Given the description of an element on the screen output the (x, y) to click on. 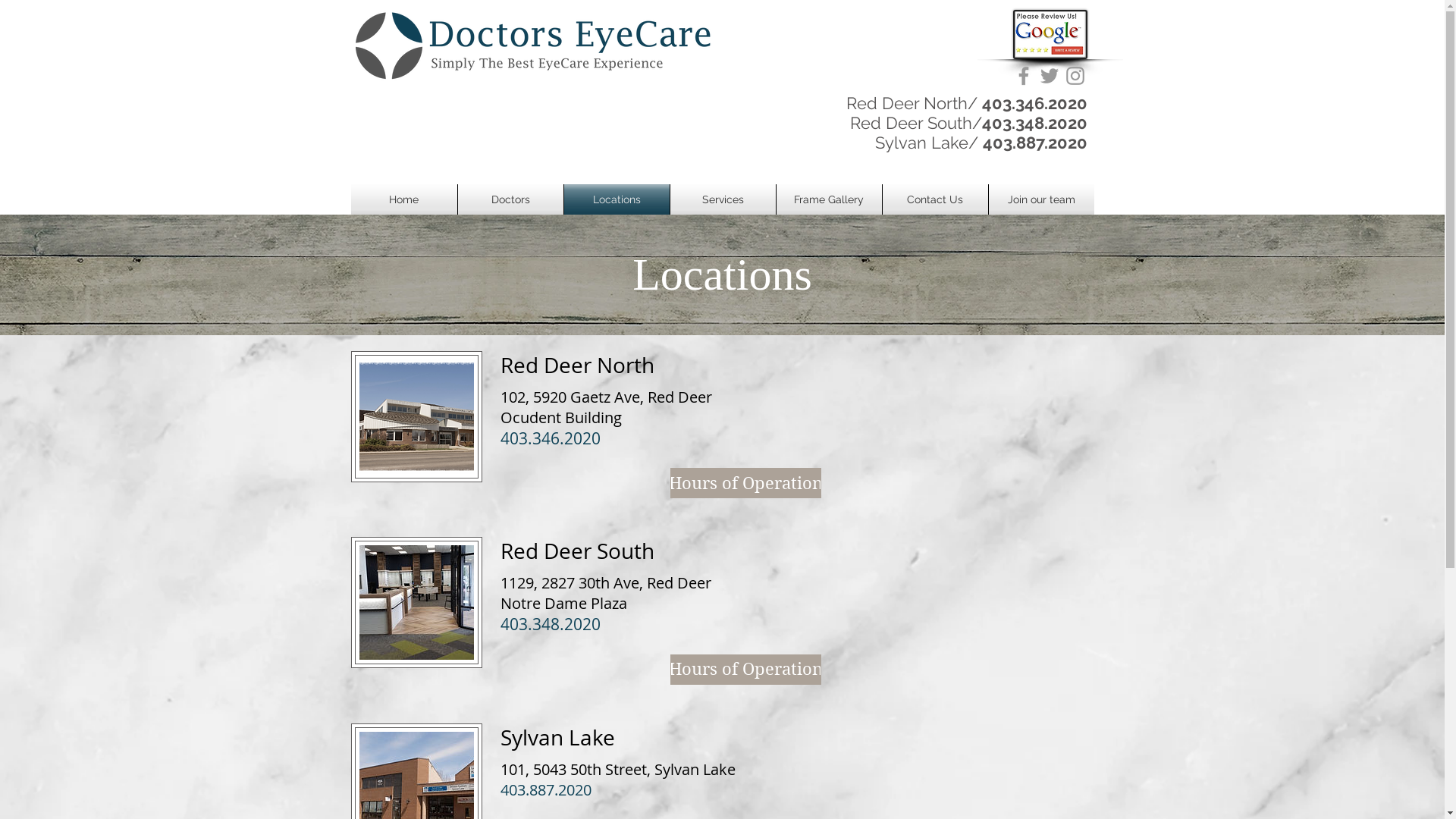
Doctors EyeCare Red Deer Element type: hover (415, 416)
Services Element type: text (722, 199)
Contact Us Element type: text (935, 199)
Hours of Operation Element type: text (745, 482)
Red Deer South interior Element type: hover (415, 602)
Locations Element type: text (616, 199)
Join our team Element type: text (1041, 199)
Hours of Operation Element type: text (745, 669)
Frame Gallery Element type: text (828, 199)
Doctors Element type: text (510, 199)
Home Element type: text (403, 199)
